Given the description of an element on the screen output the (x, y) to click on. 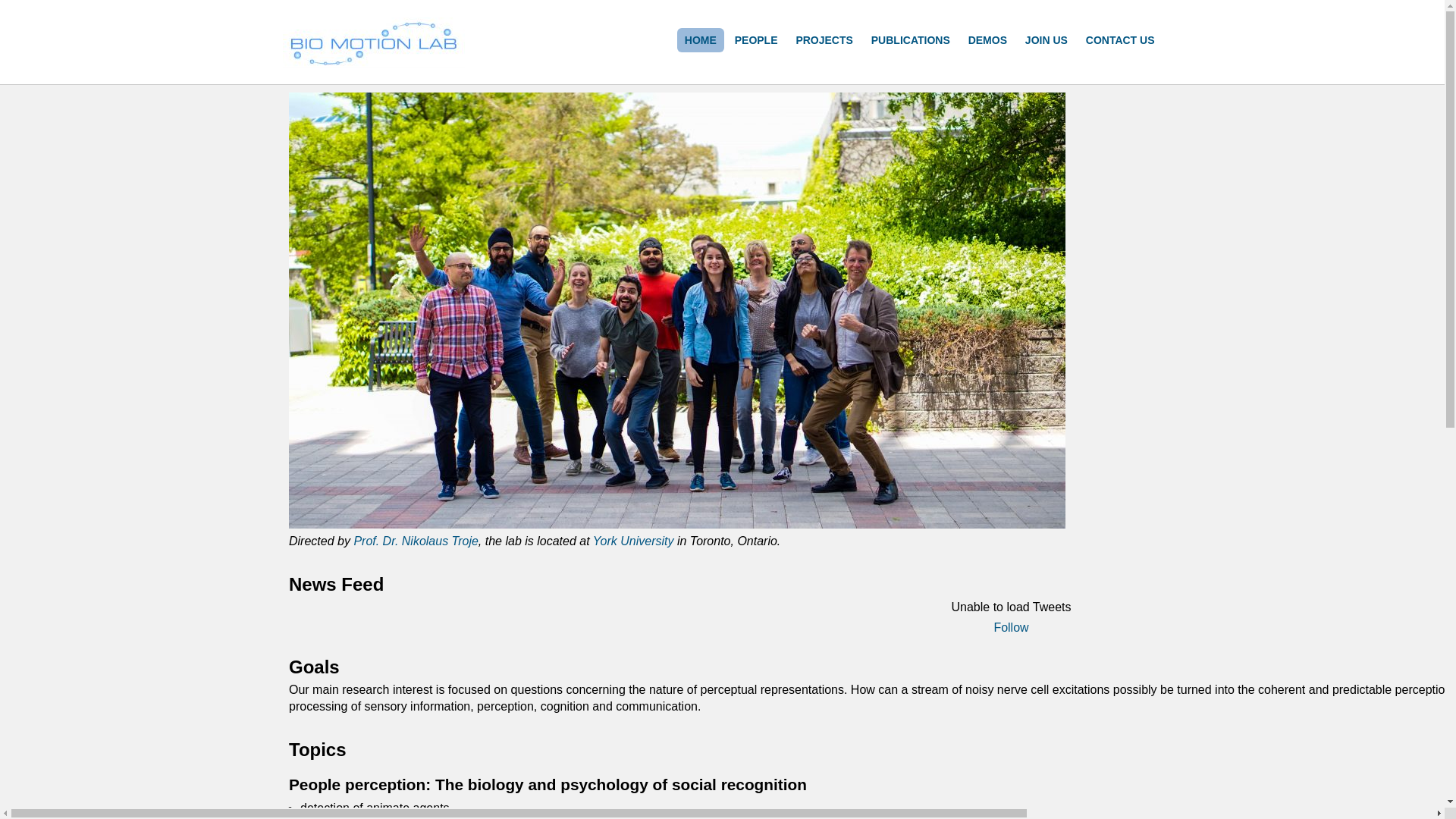
PEOPLE Element type: text (756, 40)
PUBLICATIONS Element type: text (910, 40)
York University Element type: text (633, 540)
DEMOS Element type: text (987, 40)
Follow Element type: text (1010, 627)
HOME Element type: text (700, 40)
Prof. Dr. Nikolaus Troje Element type: text (415, 540)
PROJECTS Element type: text (823, 40)
JOIN US Element type: text (1046, 40)
CONTACT US Element type: text (1120, 40)
BIOMOTIONLAB Element type: text (377, 86)
